Given the description of an element on the screen output the (x, y) to click on. 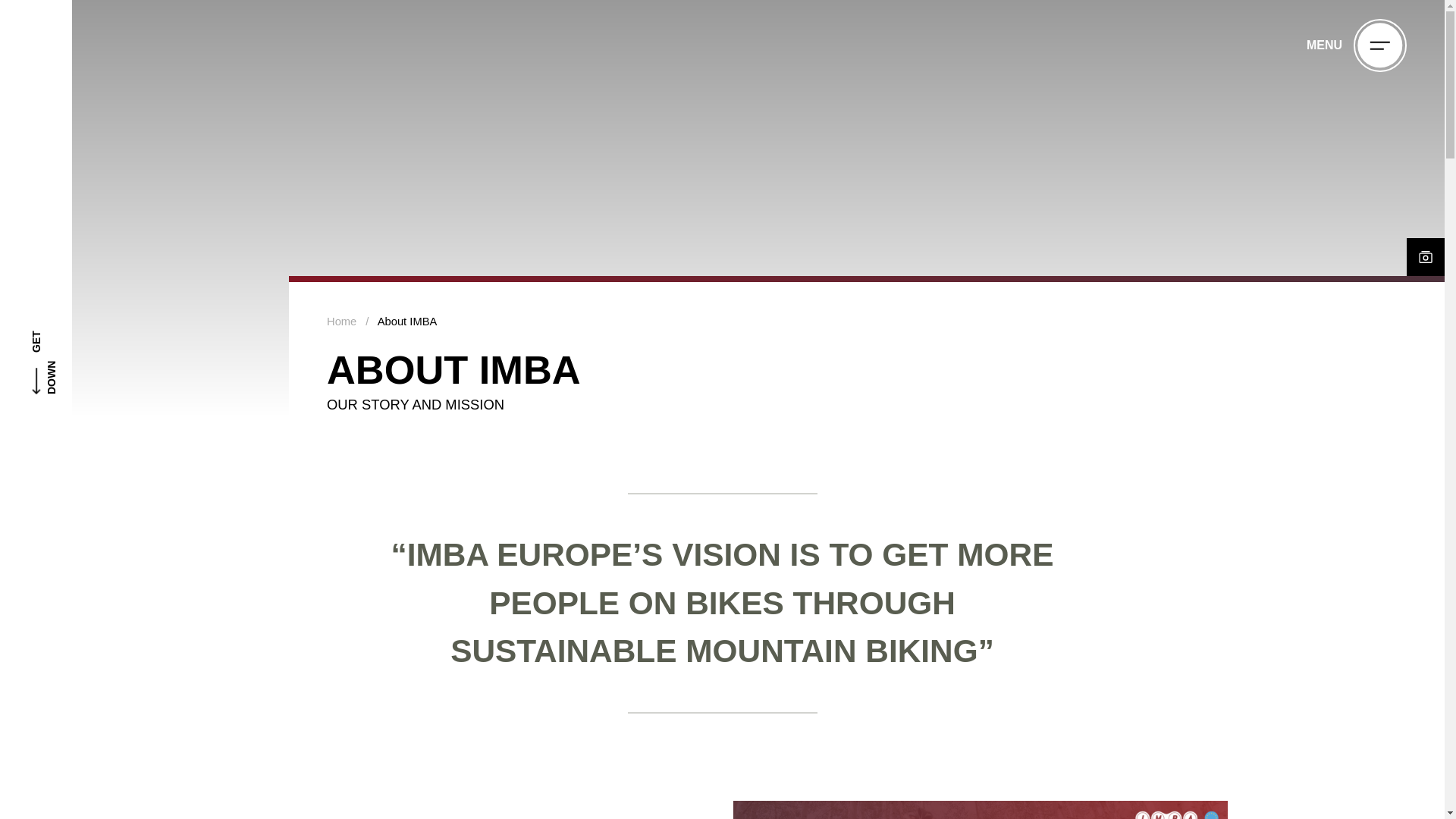
GET DOWN (78, 303)
IMBA EU workingplan2023.pptx (980, 809)
MENU (1356, 45)
Home (341, 321)
